Given the description of an element on the screen output the (x, y) to click on. 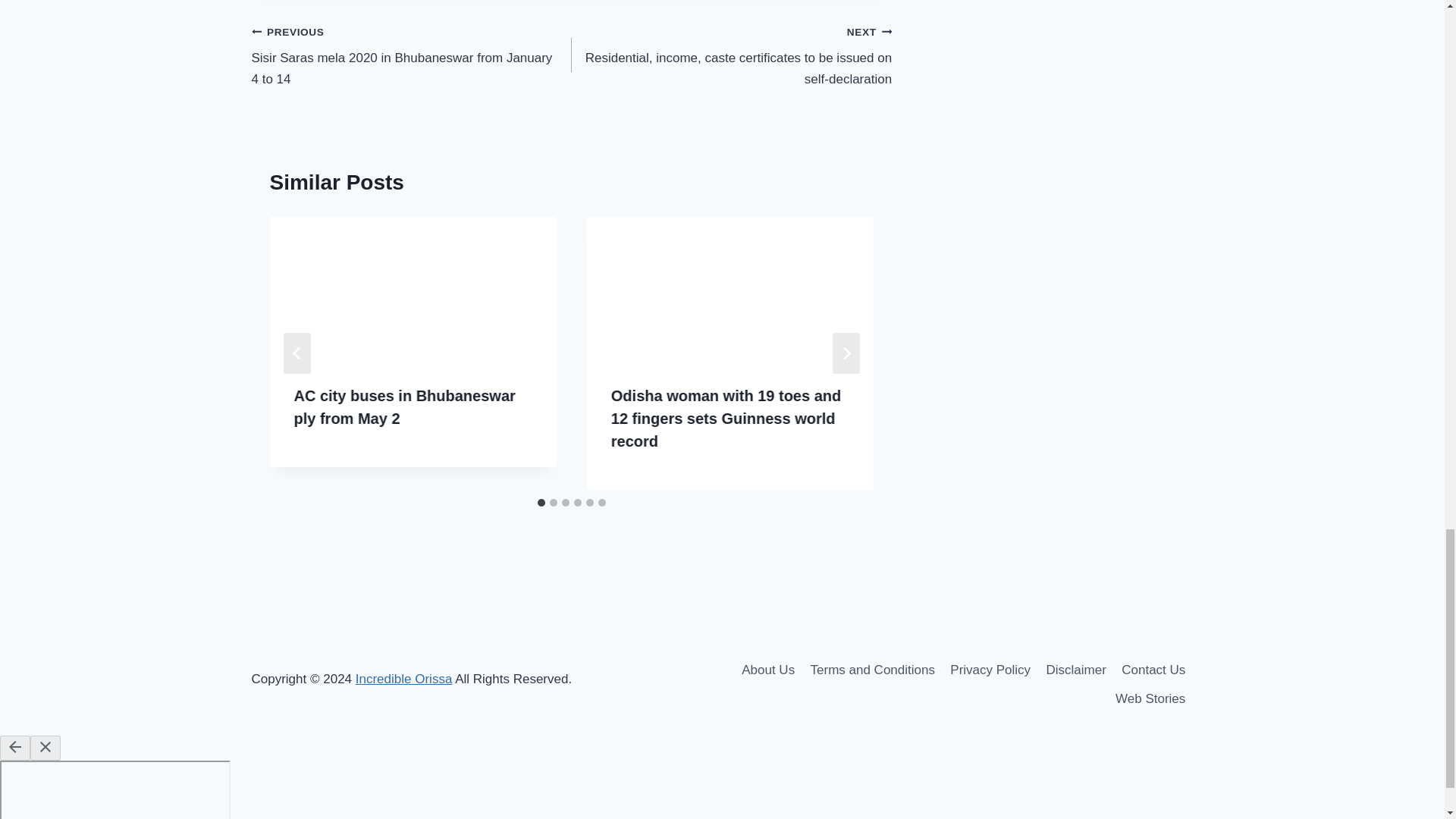
AC city buses in Bhubaneswar ply from May 2 (404, 406)
